Given the description of an element on the screen output the (x, y) to click on. 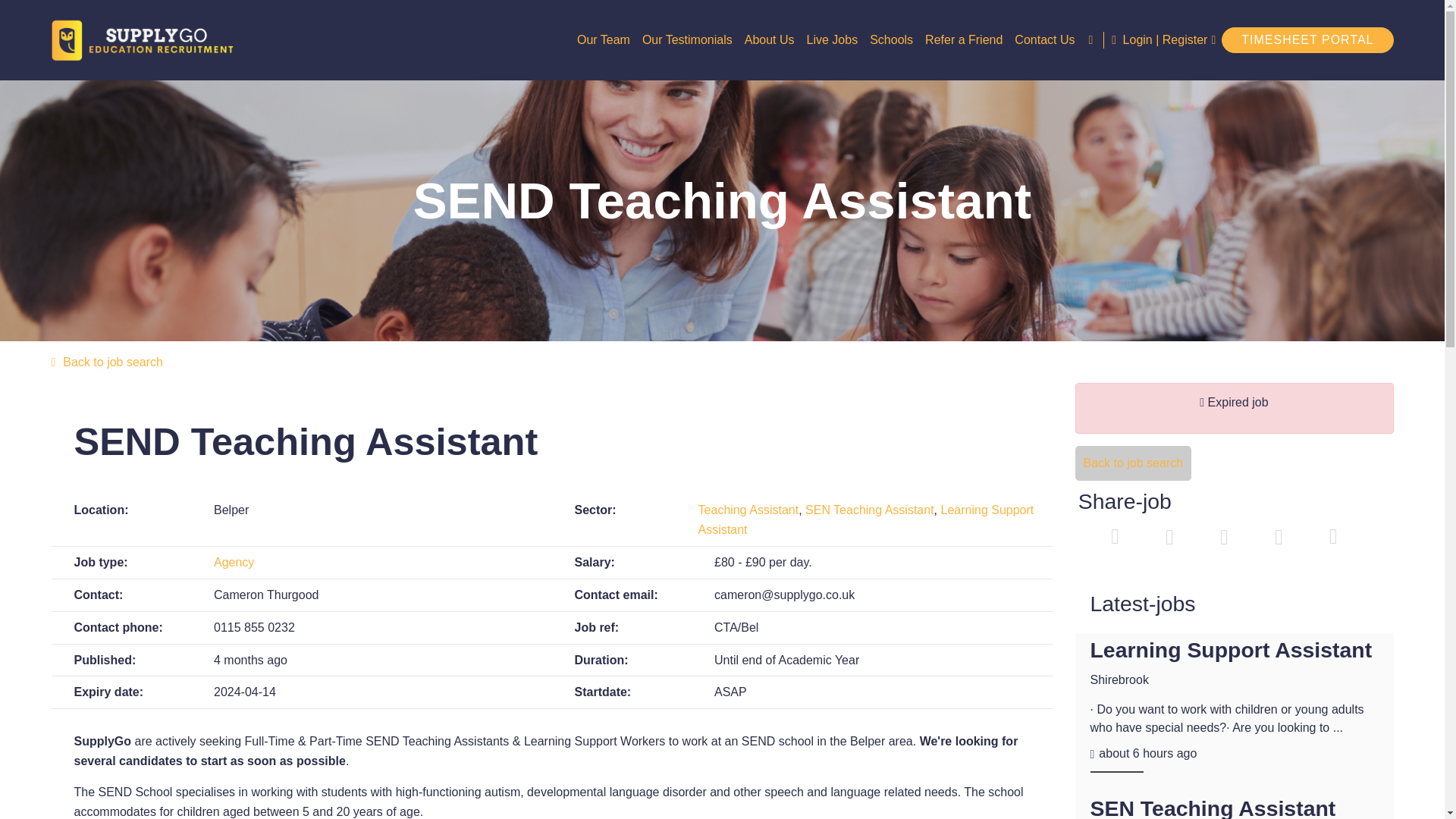
Refer a Friend (963, 39)
Email (1278, 537)
About Us (769, 39)
Schools (890, 39)
TIMESHEET PORTAL (1307, 40)
share on Facebook (1169, 537)
Agency (233, 562)
Back to job search (1133, 462)
Learning Support Assistant (865, 519)
Teaching Assistant (748, 509)
Our Team (603, 39)
Our Testimonials (687, 39)
Tweet this (1115, 537)
share on LinkedIn (1223, 537)
